Given the description of an element on the screen output the (x, y) to click on. 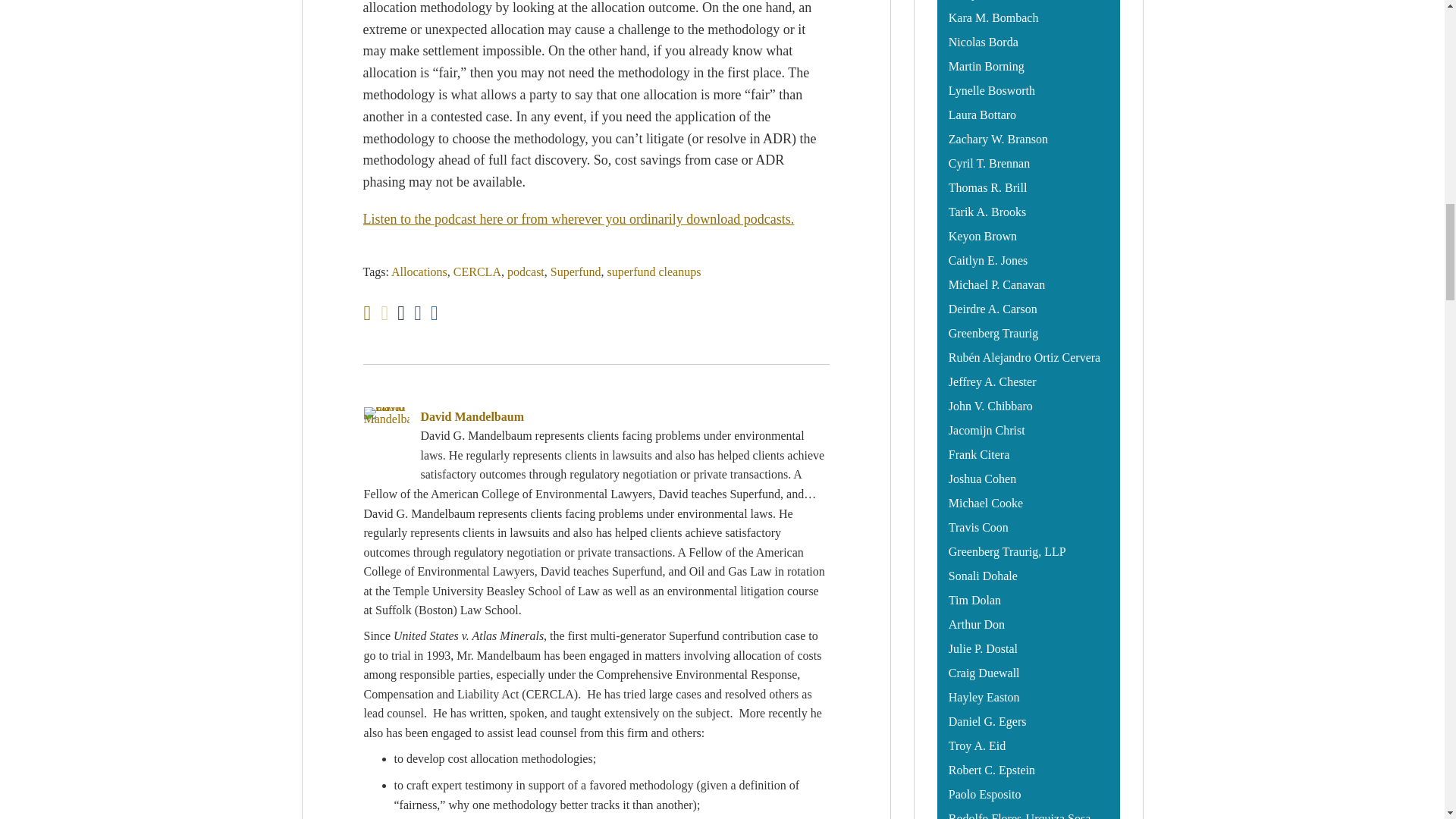
Allocations (418, 271)
podcast (525, 271)
Superfund (575, 271)
superfund cleanups (653, 271)
David Mandelbaum (596, 416)
CERCLA (476, 271)
